Given the description of an element on the screen output the (x, y) to click on. 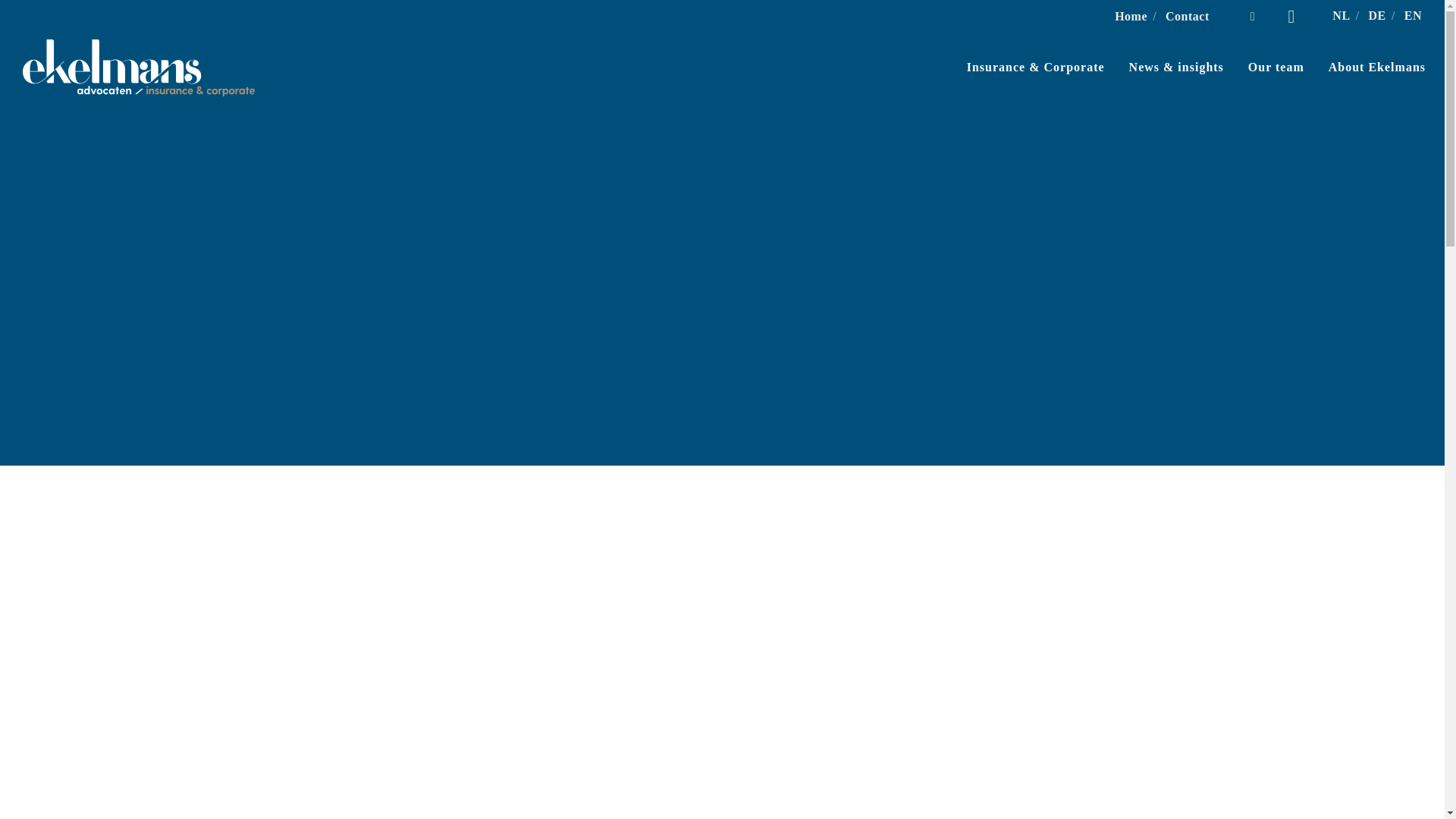
EN (1413, 15)
Home (1131, 15)
NL (1340, 15)
DE (1377, 15)
About Ekelmans (1364, 66)
Our team (1264, 66)
Contact (1187, 15)
